Given the description of an element on the screen output the (x, y) to click on. 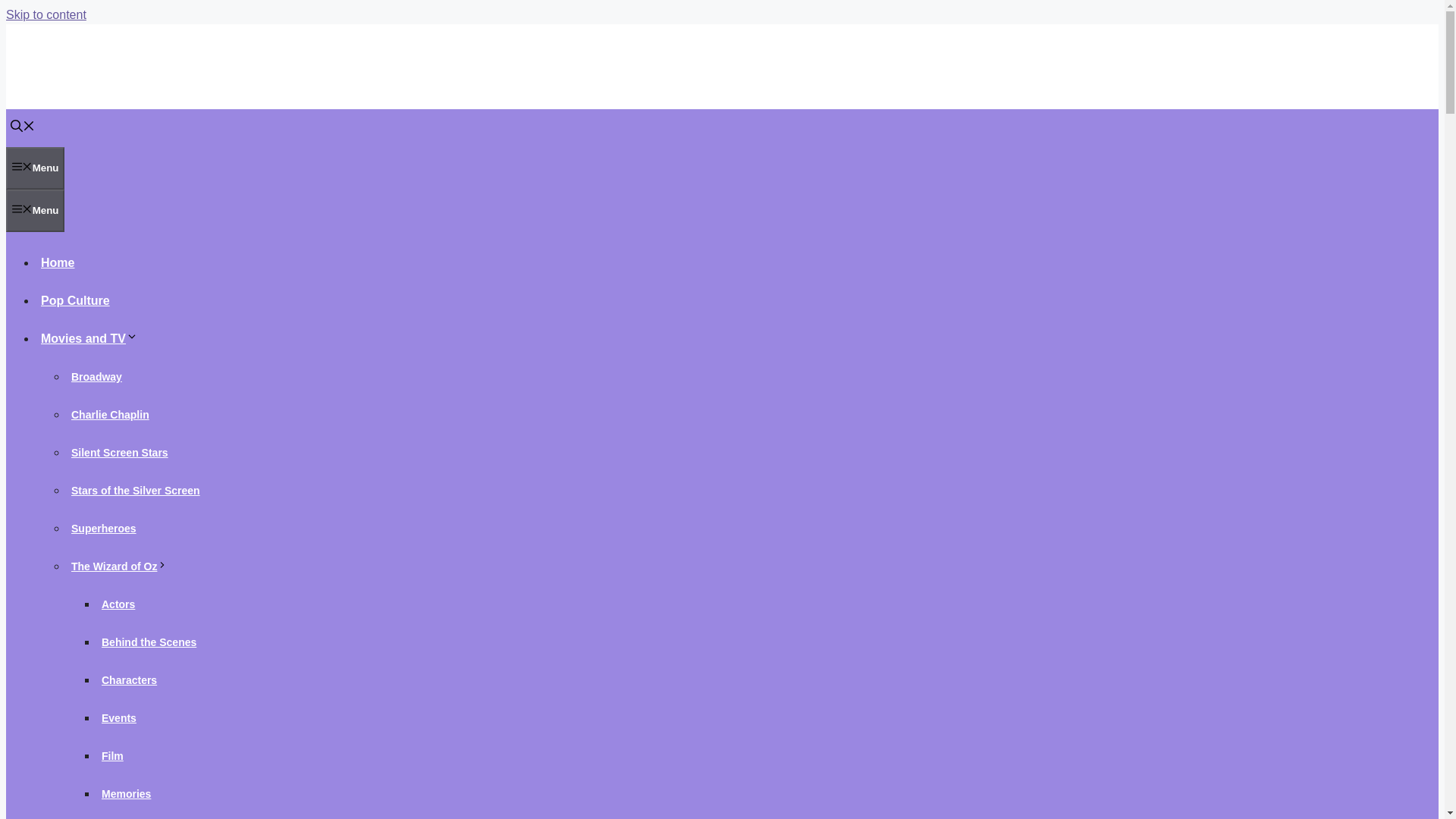
Broadway (96, 376)
Memories (126, 793)
Superheroes (103, 528)
Silent Screen Stars (119, 452)
Skip to content (45, 14)
Menu (34, 168)
Film (112, 755)
Movies and TV (91, 338)
Events (119, 718)
Stars of the Silver Screen (135, 490)
The Wizard of Oz (121, 565)
Characters (129, 679)
Behind the Scenes (148, 642)
Home (57, 262)
